Given the description of an element on the screen output the (x, y) to click on. 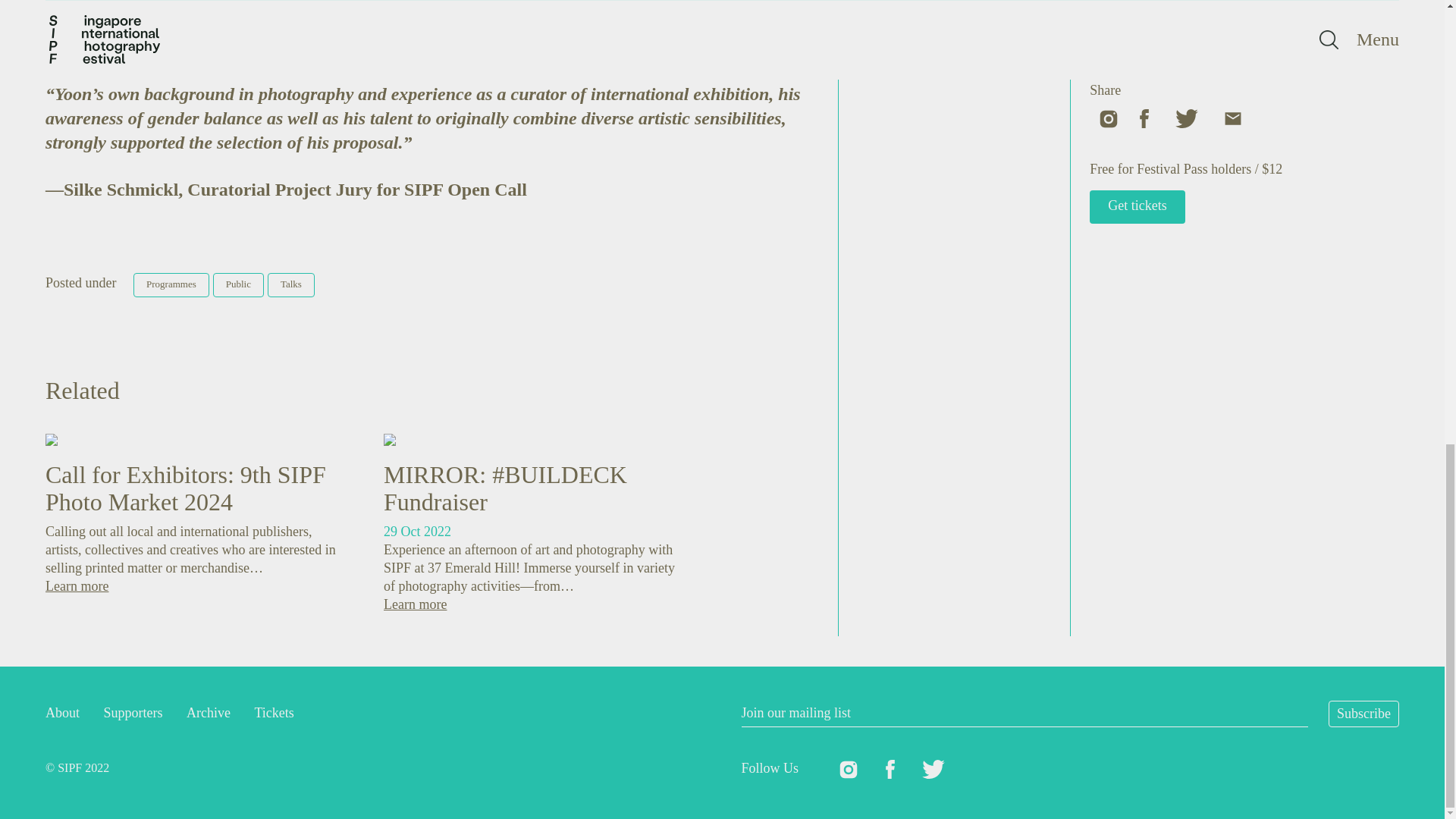
Call for Exhibitors: 9th SIPF Photo Market 2024 (185, 488)
Gillman Barracks, Blk 7 Level 1 (1207, 19)
Share on Twitter (1188, 117)
Learn more (76, 585)
Talks (291, 283)
View location (1127, 41)
Programmes (171, 283)
Learn more (415, 604)
Share on Facebook (1145, 117)
Subscribe (1363, 714)
